Given the description of an element on the screen output the (x, y) to click on. 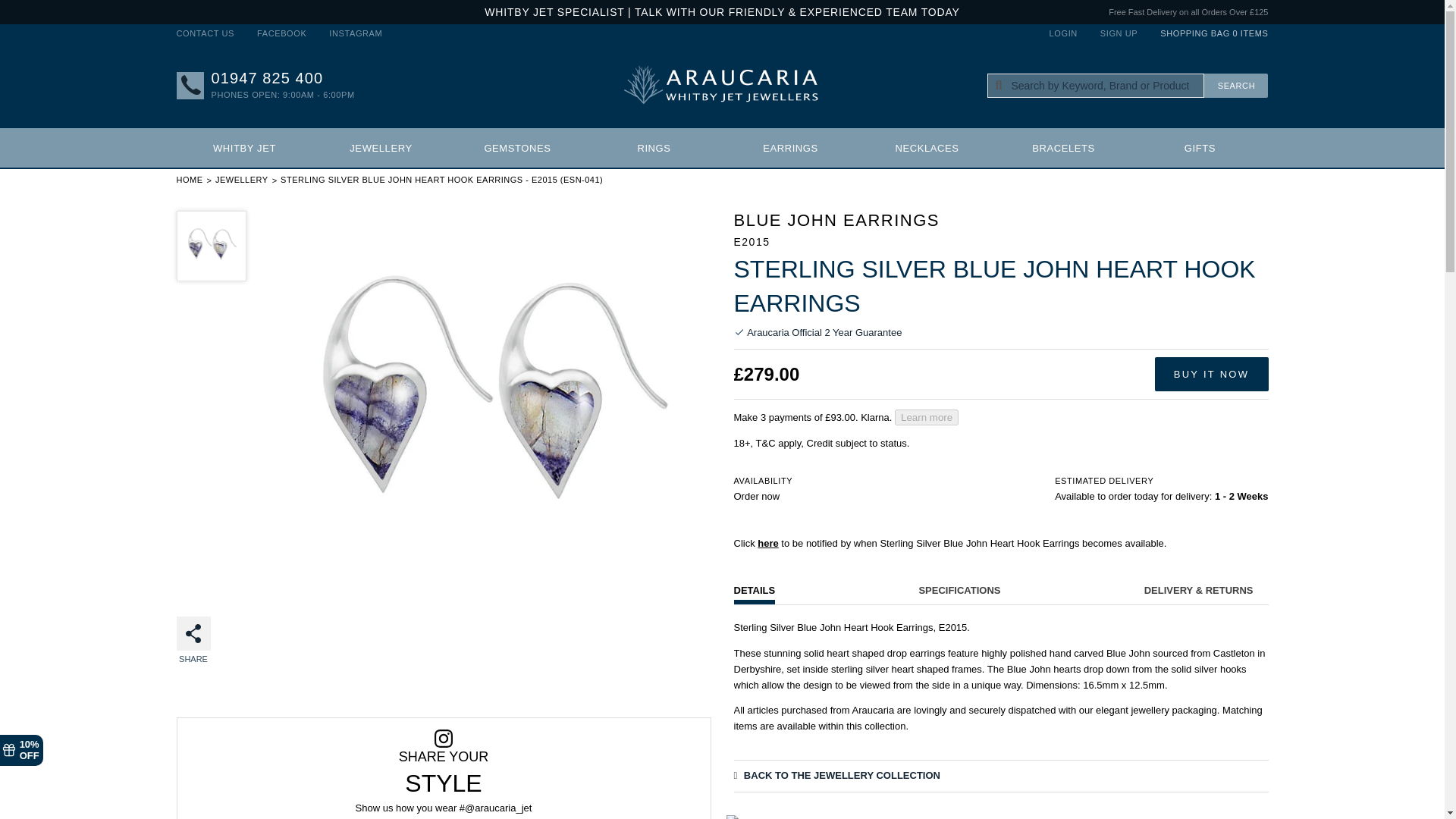
Back to homepage (189, 180)
SIGN UP (1118, 33)
CONTACT US (211, 33)
01947 825 400 (267, 78)
FACEBOOK (281, 33)
SEARCH (1236, 85)
LOGIN (1069, 33)
WHITBY JET (244, 147)
SHOPPING BAG 0 ITEMS (1208, 33)
INSTAGRAM (349, 33)
